Given the description of an element on the screen output the (x, y) to click on. 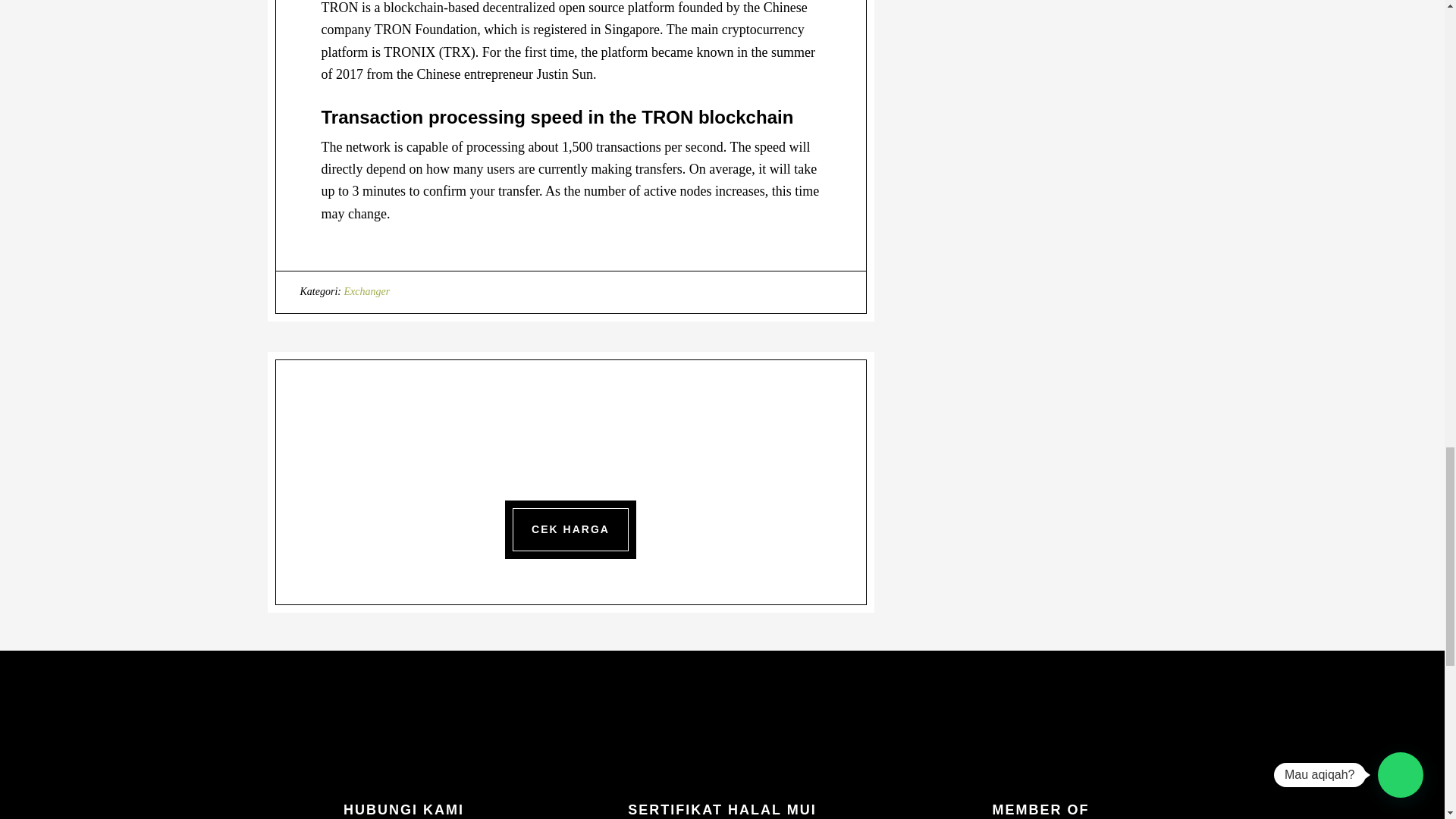
Exchanger (366, 291)
CEK HARGA (570, 529)
